Given the description of an element on the screen output the (x, y) to click on. 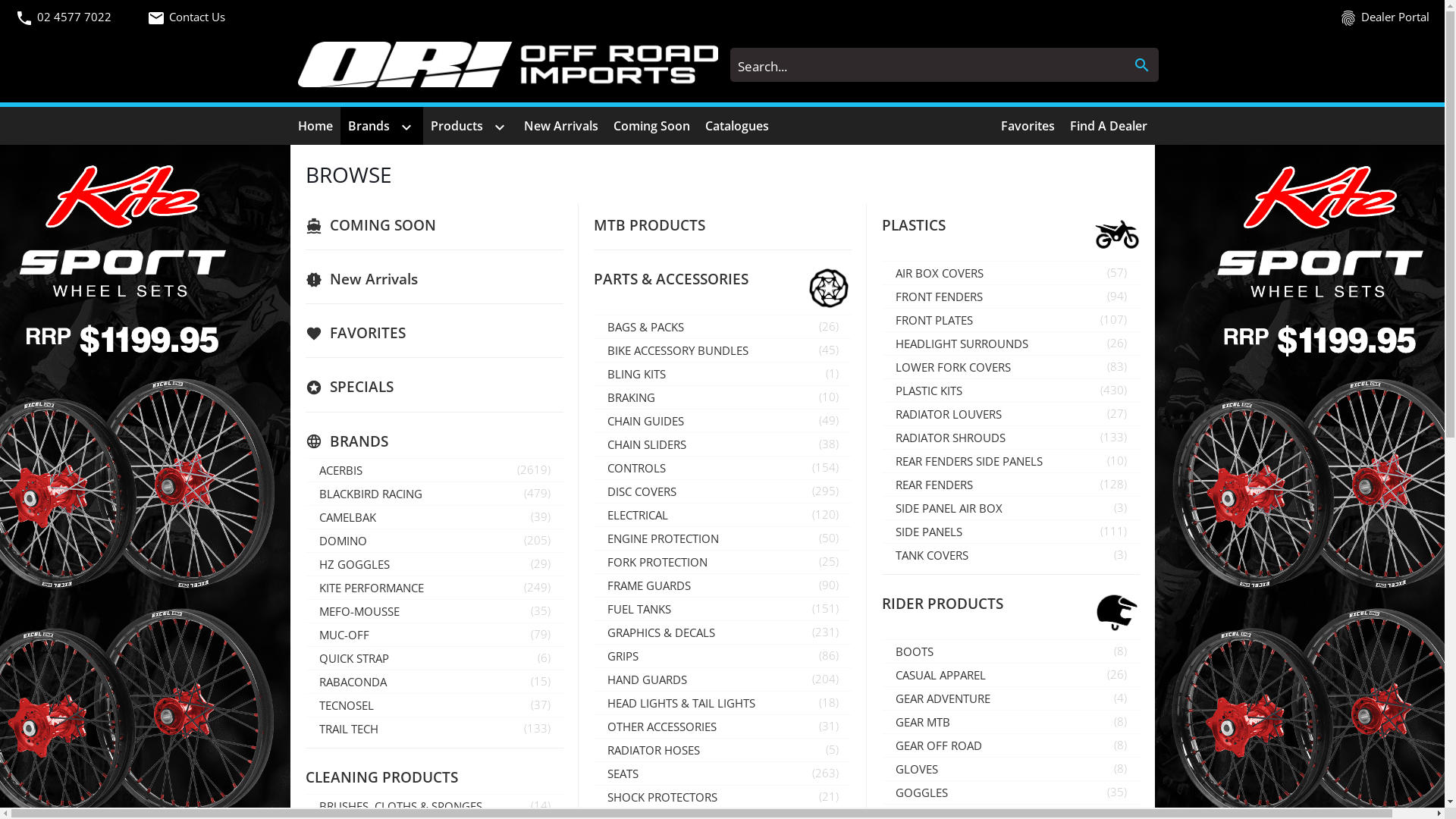
Find A Dealer Element type: text (1107, 125)
FRAME GUARDS Element type: text (696, 585)
REAR FENDERS SIDE PANELS Element type: text (984, 460)
FUEL TANKS Element type: text (696, 608)
starsSPECIALS Element type: text (401, 386)
KITE PERFORMANCE Element type: text (408, 587)
Home Element type: text (314, 125)
LOWER FORK COVERS Element type: text (984, 366)
BOOTS Element type: text (984, 651)
TANK COVERS Element type: text (984, 554)
AIR BOX COVERS Element type: text (984, 272)
HEAD LIGHTS & TAIL LIGHTS Element type: text (696, 702)
PARTS & ACCESSORIES Element type: text (689, 278)
Catalogues Element type: text (736, 125)
RADIATOR HOSES Element type: text (696, 749)
02 4577 7022 Element type: text (74, 16)
MTB PRODUCTS Element type: text (689, 224)
CONTROLS Element type: text (696, 467)
ELECTRICAL Element type: text (696, 514)
FORK PROTECTION Element type: text (696, 561)
SHOCK PROTECTORS Element type: text (696, 796)
PLASTIC KITS Element type: text (984, 390)
GEAR ADVENTURE Element type: text (984, 698)
GEAR MTB Element type: text (984, 721)
QUICK STRAP Element type: text (408, 657)
emailContact Us Element type: text (271, 17)
SIDE PANEL AIR BOX Element type: text (984, 507)
BLACKBIRD RACING Element type: text (408, 493)
ACERBIS Element type: text (408, 469)
New Arrivals Element type: text (560, 125)
Favorites Element type: text (1027, 125)
CLEANING PRODUCTS Element type: text (401, 776)
ENGINE PROTECTION Element type: text (696, 538)
FRONT PLATES Element type: text (984, 319)
REAR FENDERS Element type: text (984, 484)
MUC-OFF Element type: text (408, 634)
TRAIL TECH Element type: text (408, 728)
RADIATOR LOUVERS Element type: text (984, 413)
PLASTICS Element type: text (977, 224)
favoriteFAVORITES Element type: text (401, 332)
HZ GOGGLES Element type: text (408, 563)
GLOVES Element type: text (984, 768)
SIDE PANELS Element type: text (984, 531)
DISC COVERS Element type: text (696, 491)
HAND GUARDS Element type: text (696, 679)
RABACONDA Element type: text (408, 681)
CHAIN GUIDES Element type: text (696, 420)
MEFO-MOUSSE Element type: text (408, 610)
Coming Soon Element type: text (650, 125)
BLING KITS Element type: text (696, 373)
RIDER PRODUCTS Element type: text (977, 602)
CHAIN SLIDERS Element type: text (696, 444)
BIKE ACCESSORY BUNDLES Element type: text (696, 349)
BAGS & PACKS Element type: text (696, 326)
new_releasesNew Arrivals Element type: text (401, 278)
DOMINO Element type: text (408, 540)
GOGGLES Element type: text (984, 792)
FRONT FENDERS Element type: text (984, 296)
RADIATOR SHROUDS Element type: text (984, 437)
CASUAL APPAREL Element type: text (984, 674)
GRIPS Element type: text (696, 655)
GRAPHICS & DECALS Element type: text (696, 632)
directions_boatCOMING SOON Element type: text (401, 224)
CAMELBAK Element type: text (408, 516)
HEADLIGHT SURROUNDS Element type: text (984, 343)
GEAR OFF ROAD Element type: text (984, 745)
BRUSHES, CLOTHS & SPONGES Element type: text (408, 805)
SEATS Element type: text (696, 773)
languageBRANDS Element type: text (401, 440)
TECNOSEL Element type: text (408, 704)
BRAKING Element type: text (696, 396)
OTHER ACCESSORIES Element type: text (696, 726)
